Given the description of an element on the screen output the (x, y) to click on. 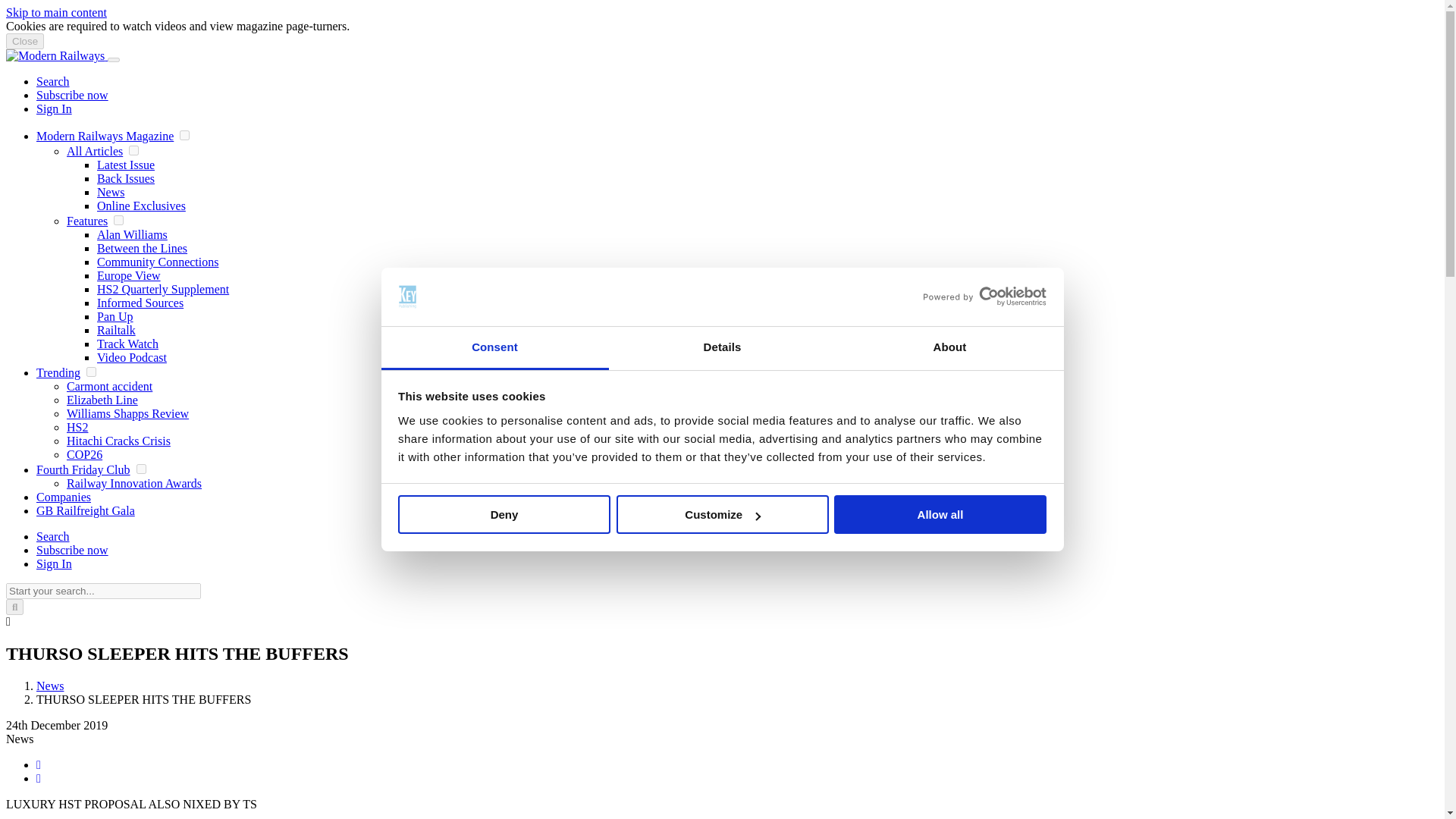
Consent (494, 348)
on (141, 469)
on (133, 150)
on (90, 371)
Details (721, 348)
Home (56, 55)
on (118, 220)
on (184, 135)
Sign into the site (53, 108)
Sign into the site (53, 563)
GB Railfreight Gala Weekend (85, 510)
About (948, 348)
